Given the description of an element on the screen output the (x, y) to click on. 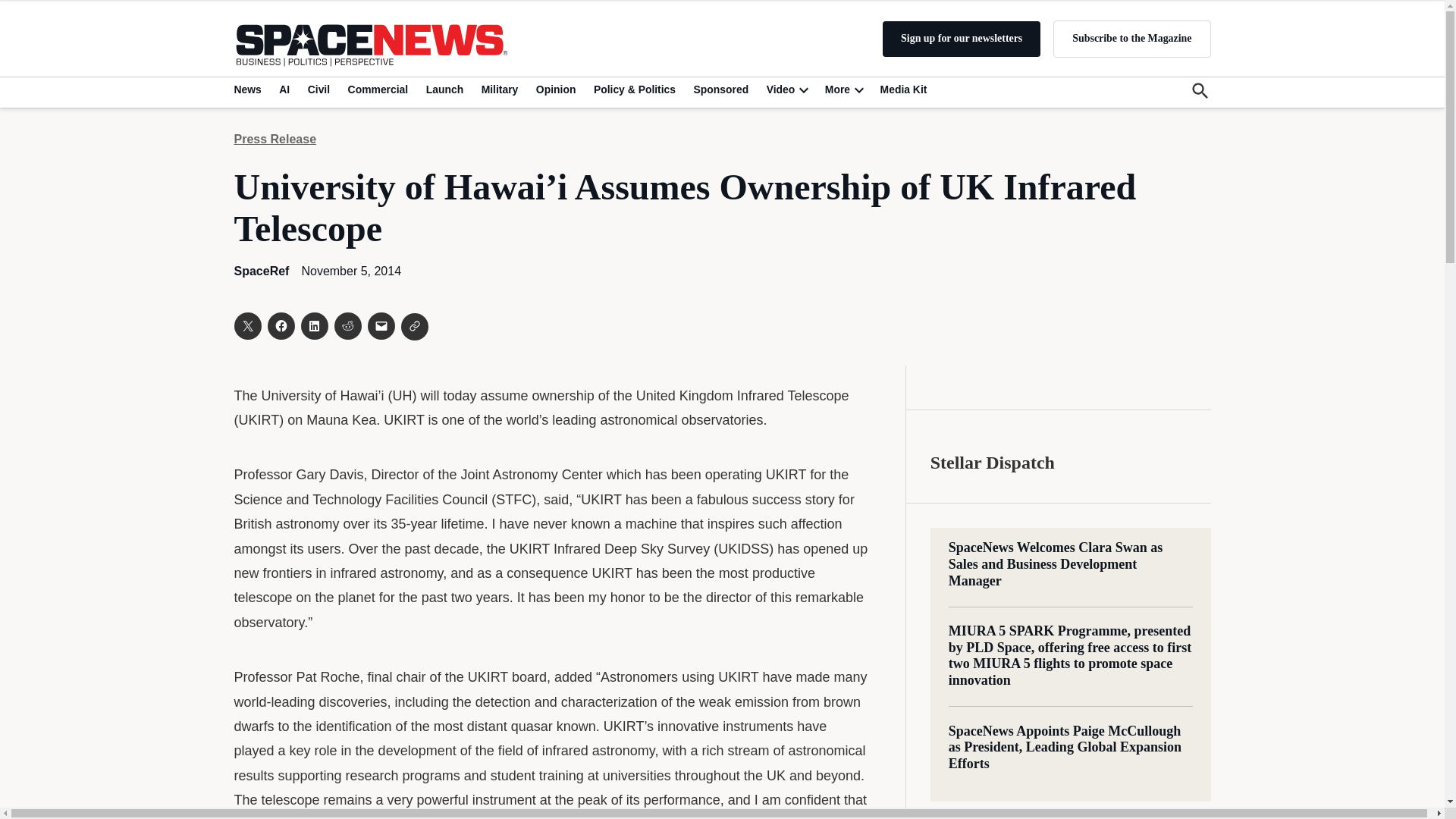
Click to share on Reddit (347, 325)
AI (284, 89)
News (249, 89)
Click to share on Facebook (280, 325)
Civil (318, 89)
Sign up for our newsletters (961, 38)
Click to share on LinkedIn (313, 325)
Click to email a link to a friend (380, 325)
Click to share on X (246, 325)
Click to share on Clipboard (414, 326)
Subscribe to the Magazine (1130, 38)
